Given the description of an element on the screen output the (x, y) to click on. 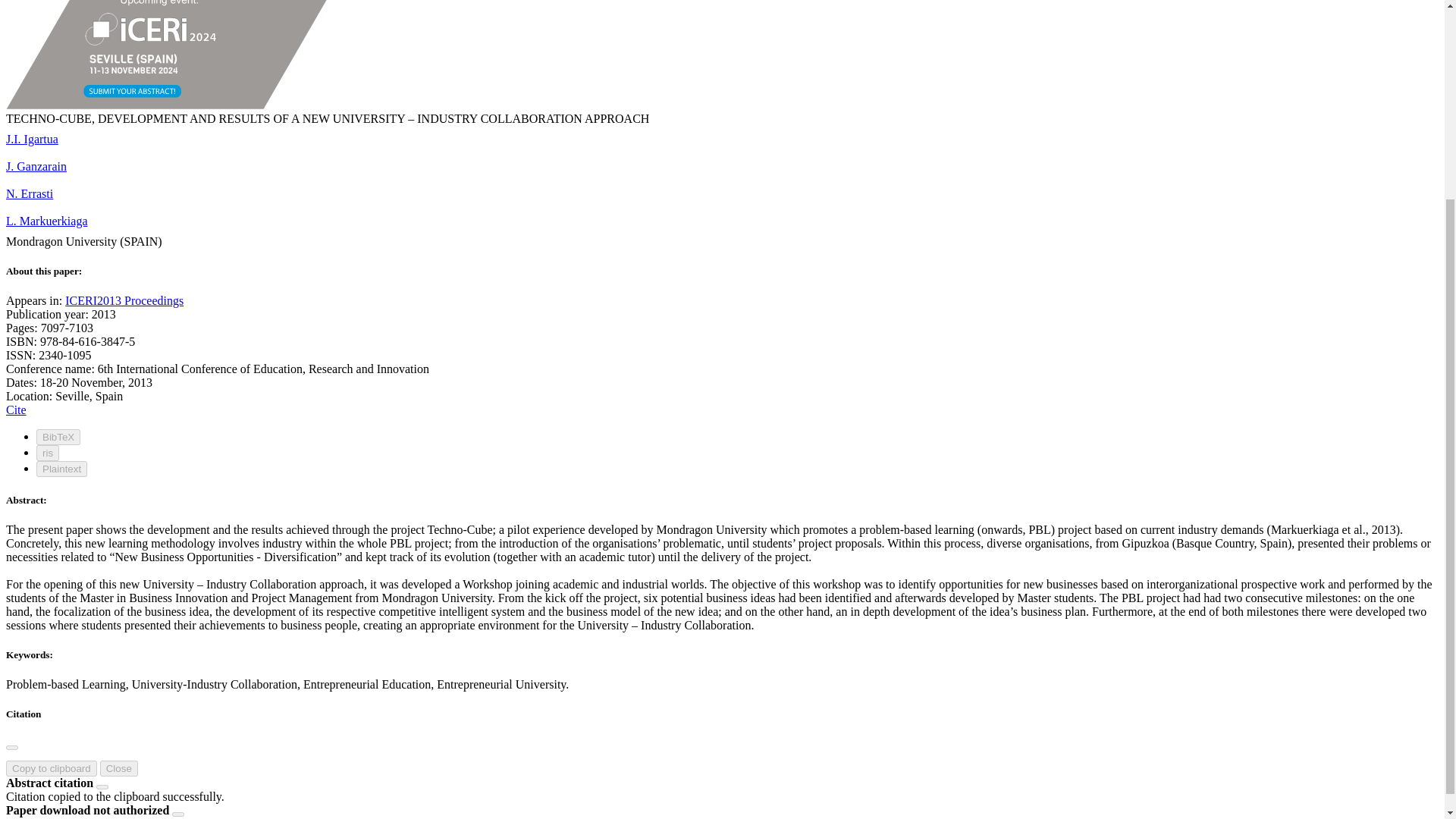
Copy to clipboard (51, 768)
J. Ganzarain (35, 165)
Close (119, 768)
Plaintext (61, 468)
ris (47, 453)
ICERI2013 Proceedings (124, 300)
Cite (15, 409)
BibTeX (58, 437)
L. Markuerkiaga (46, 220)
J.I. Igartua (31, 138)
